Given the description of an element on the screen output the (x, y) to click on. 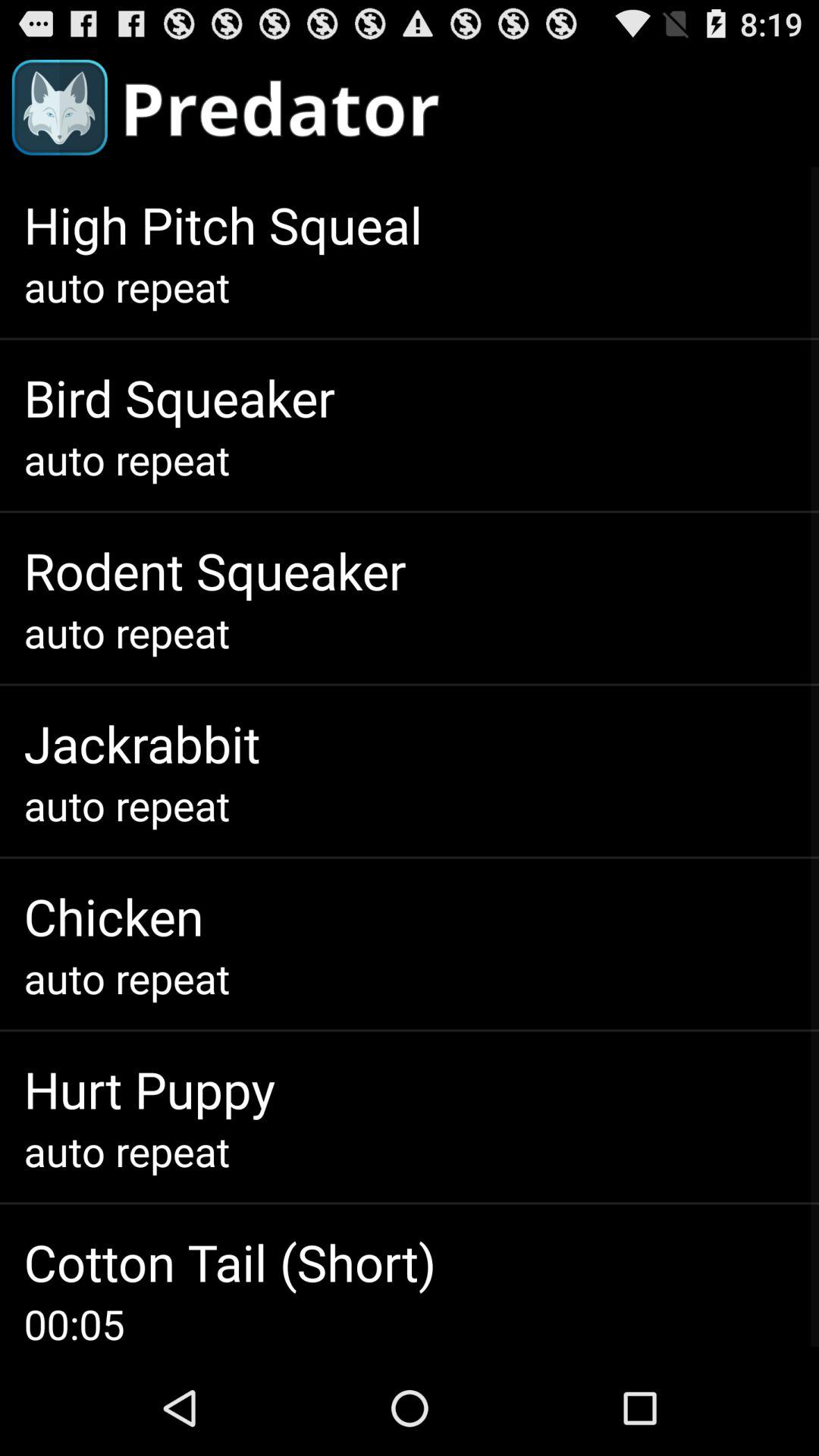
open app above auto repeat icon (222, 224)
